Given the description of an element on the screen output the (x, y) to click on. 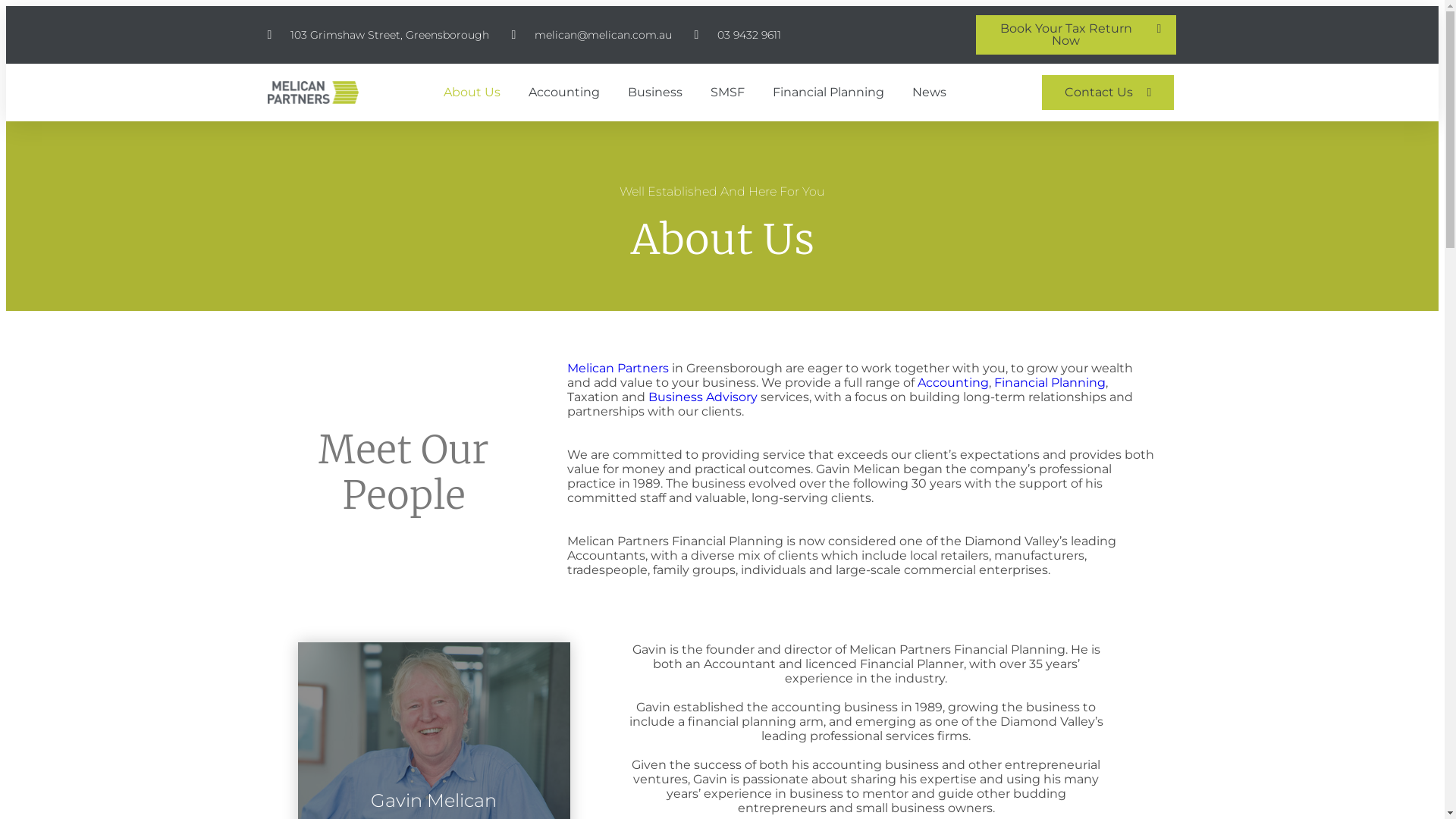
Financial Planning Element type: text (1048, 382)
Business Element type: text (654, 92)
Book Your Tax Return Now Element type: text (1075, 34)
melican@melican.com.au Element type: text (591, 34)
Contact Us Element type: text (1107, 92)
Accounting Element type: text (563, 92)
Business Advisory Element type: text (701, 396)
03 9432 9611 Element type: text (737, 34)
News Element type: text (929, 92)
Financial Planning Element type: text (828, 92)
SMSF Element type: text (727, 92)
About Us Element type: text (471, 92)
Melican Partners Element type: text (617, 367)
Accounting Element type: text (952, 382)
